Given the description of an element on the screen output the (x, y) to click on. 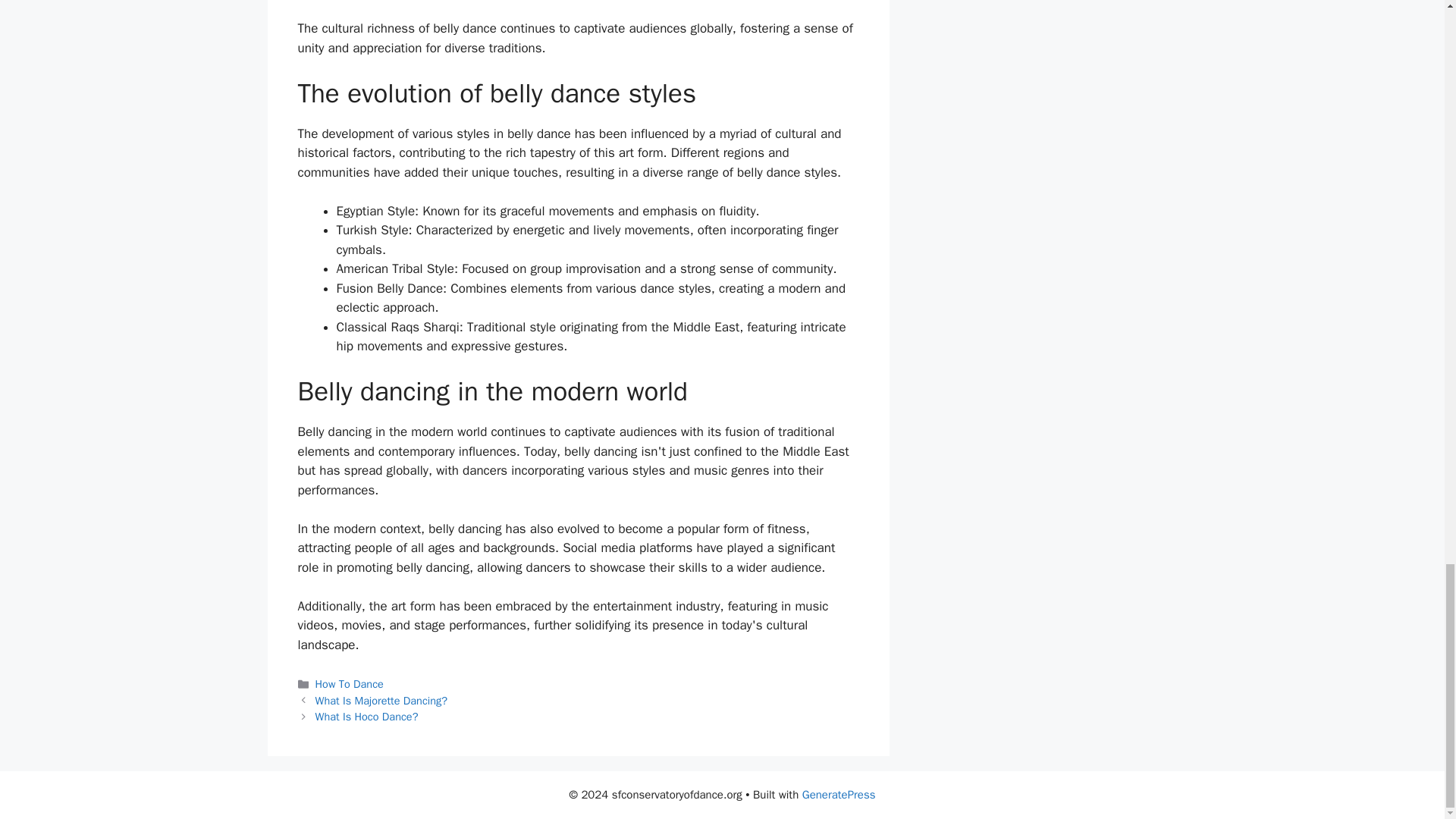
GeneratePress (839, 794)
What Is Majorette Dancing? (380, 700)
How To Dance (349, 684)
What Is Hoco Dance? (367, 716)
